Given the description of an element on the screen output the (x, y) to click on. 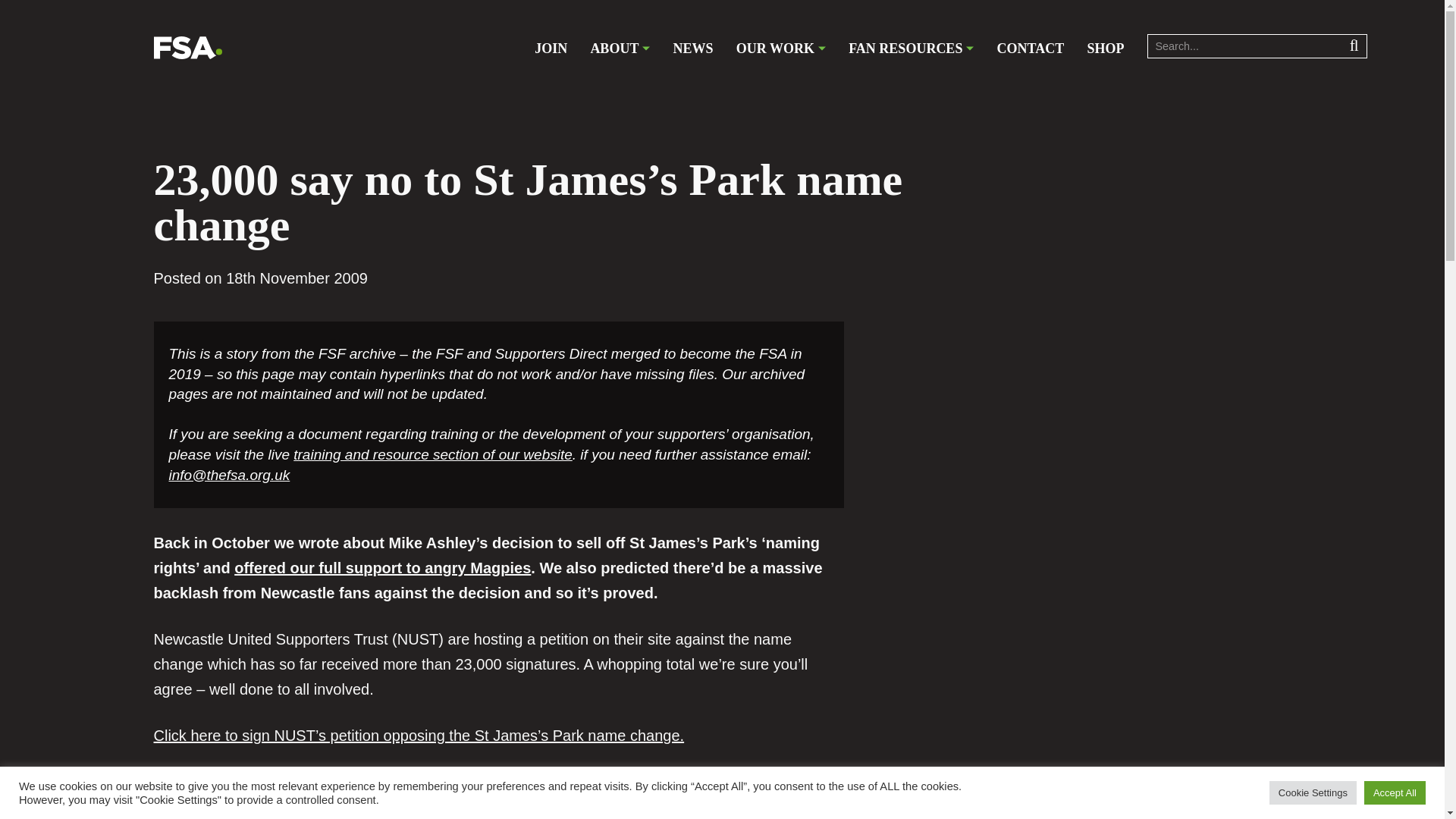
ABOUT (619, 48)
JOIN (550, 48)
NEWS (692, 48)
OUR WORK (780, 48)
